Given the description of an element on the screen output the (x, y) to click on. 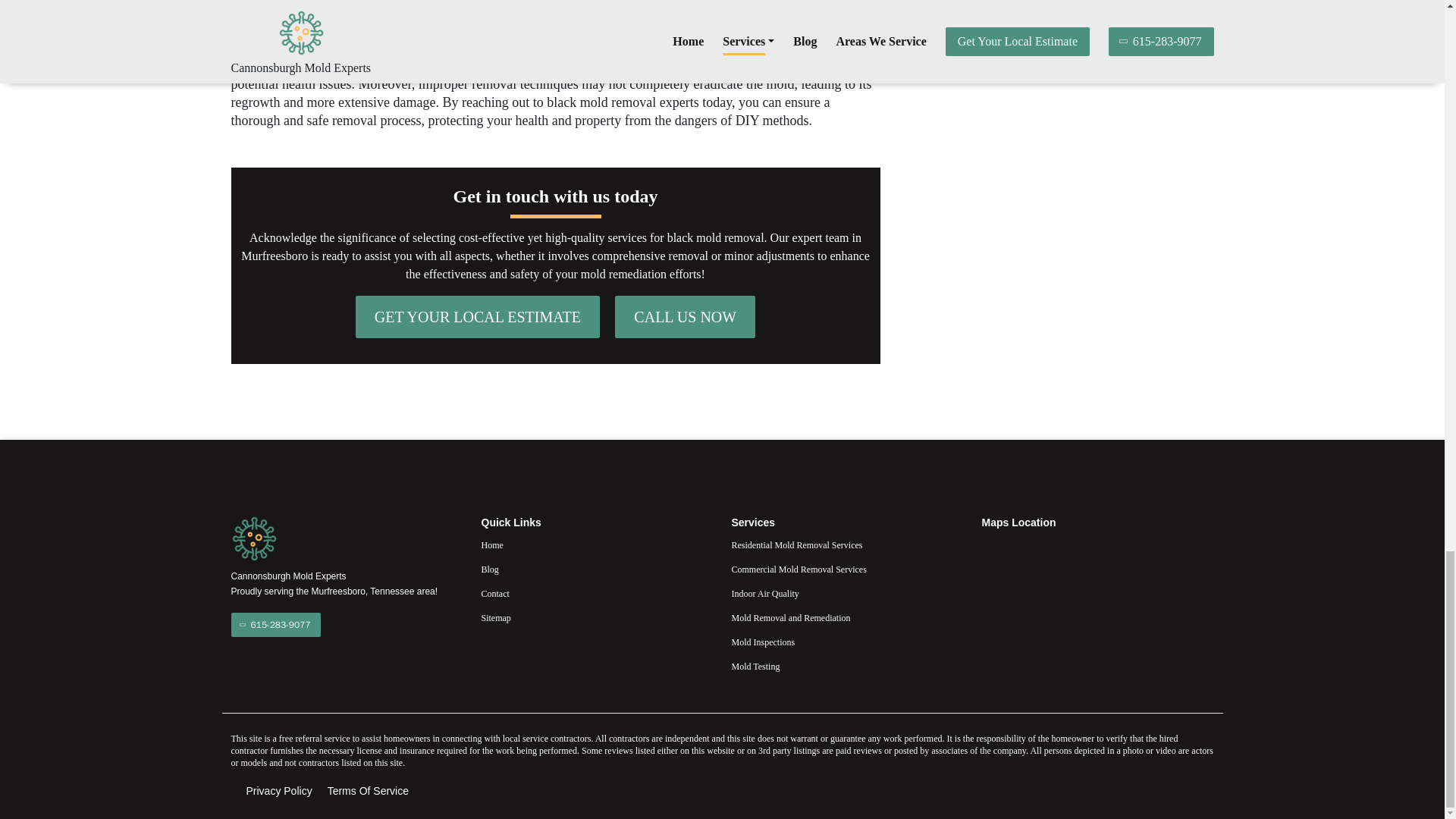
CALL US NOW (684, 316)
GET YOUR LOCAL ESTIMATE (477, 316)
